Given the description of an element on the screen output the (x, y) to click on. 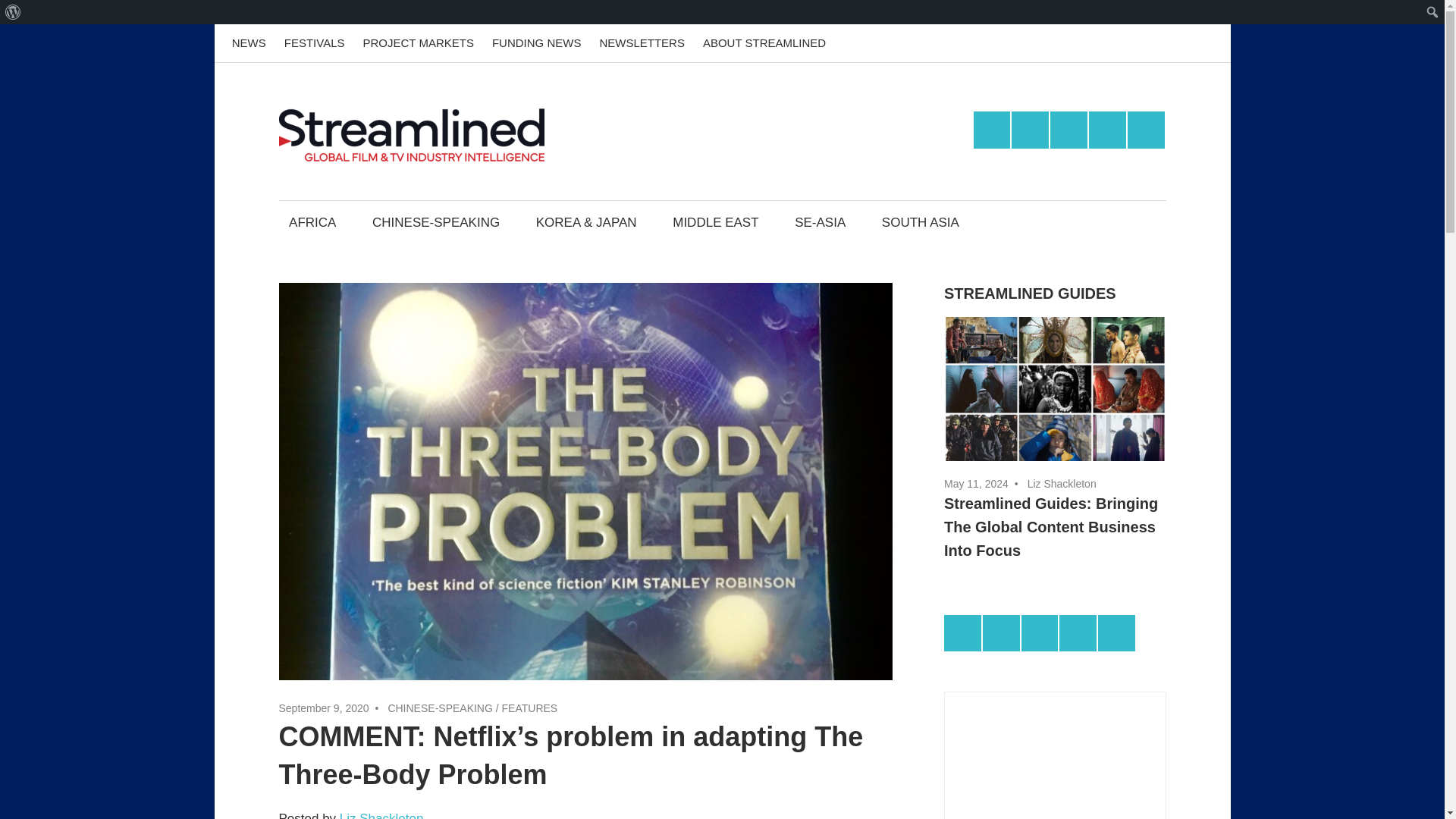
FESTIVALS (314, 43)
NEWSLETTERS (641, 43)
9:52 am (324, 707)
Twitter (1029, 129)
Instagram (1107, 129)
PROJECT MARKETS (417, 43)
Instagram (1167, 43)
View all posts from category STREAMLINED GUIDES (1029, 293)
September 9, 2020 (324, 707)
CHINESE-SPEAKING (439, 707)
ABOUT STREAMLINED (764, 43)
Threads (1205, 43)
NEWS (248, 43)
CHINESE-SPEAKING (435, 221)
AFRICA (313, 221)
